Given the description of an element on the screen output the (x, y) to click on. 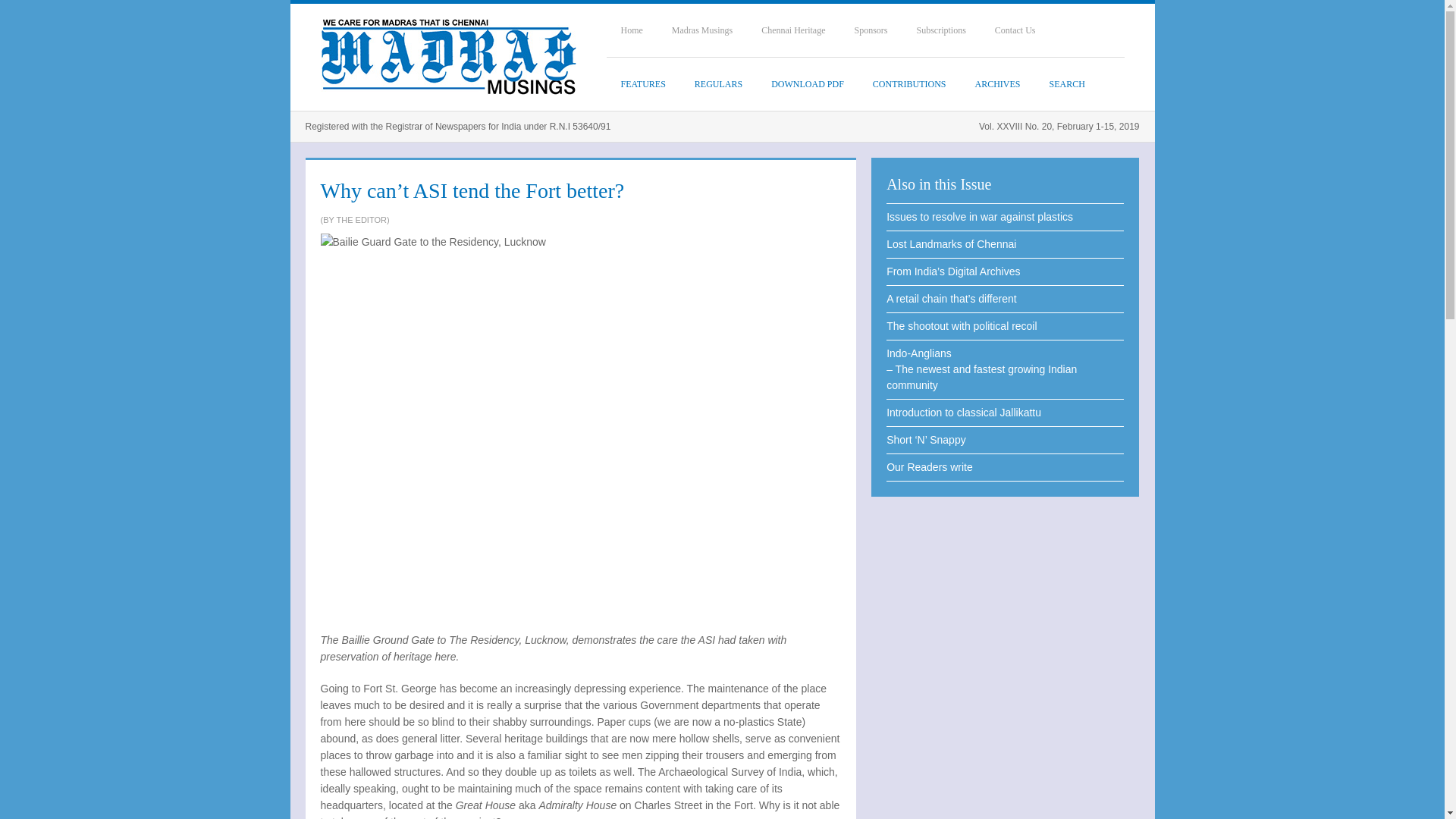
Issues to resolve in war against plastics (1005, 216)
CONTRIBUTIONS (909, 83)
The shootout with political recoil (1005, 326)
Madras Musings (702, 30)
Sponsors (870, 30)
FEATURES (643, 83)
Home (632, 30)
Contact Us (1014, 30)
Introduction to classical Jallikattu (1005, 412)
REGULARS (718, 83)
Subscriptions (940, 30)
Lost Landmarks of Chennai (1005, 244)
DOWNLOAD PDF (808, 83)
Chennai Heritage (793, 30)
ARCHIVES (997, 83)
